Given the description of an element on the screen output the (x, y) to click on. 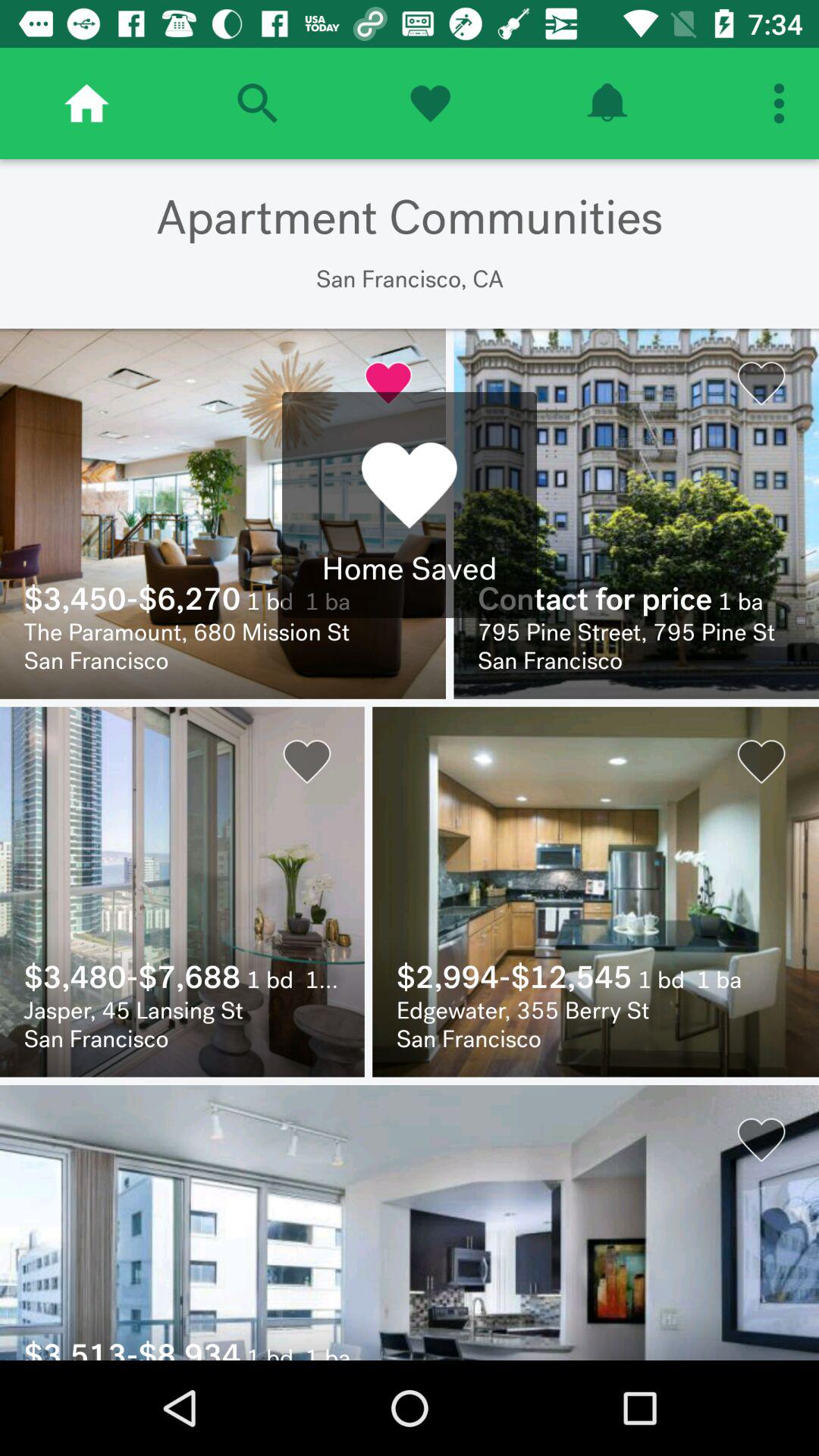
show alerts (606, 103)
